Given the description of an element on the screen output the (x, y) to click on. 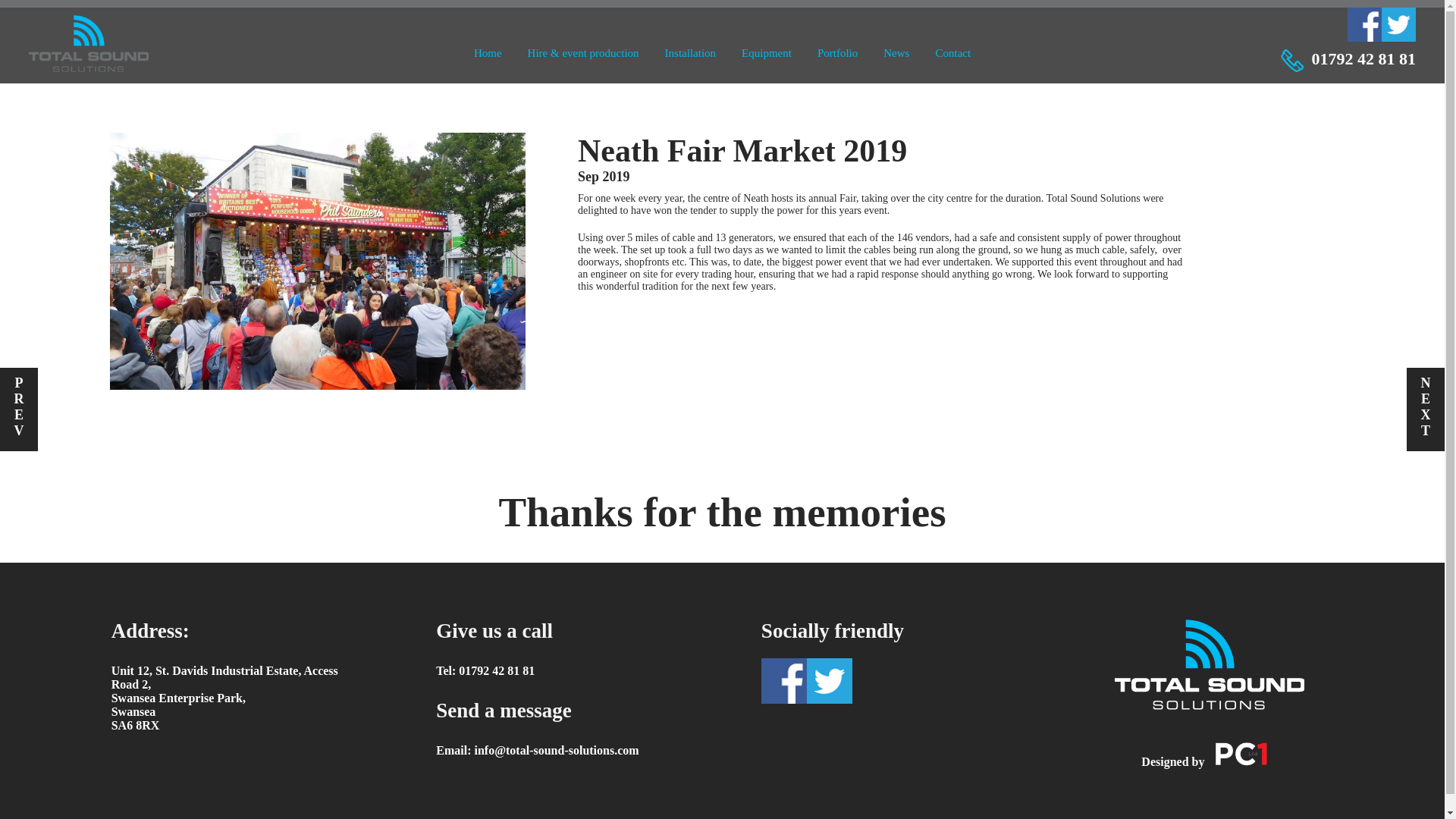
Installation (690, 52)
Equipment (766, 52)
Portfolio (836, 52)
Contact (952, 52)
News (895, 52)
Home (488, 52)
